Given the description of an element on the screen output the (x, y) to click on. 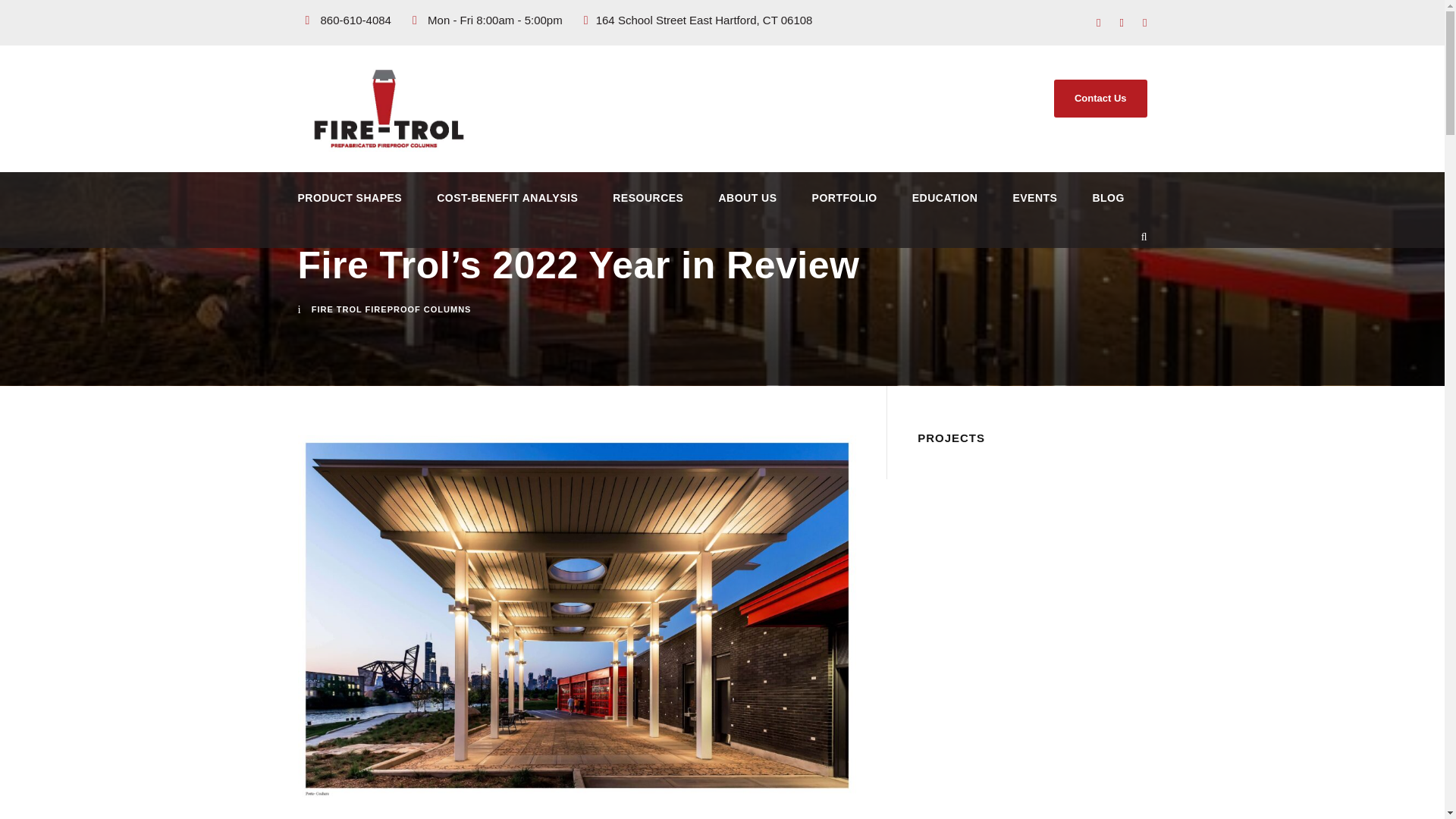
PORTFOLIO (844, 207)
FIRE TROL FIREPROOF COLUMNS (391, 308)
Posts by Fire Trol Fireproof Columns (391, 308)
Logo-fire-trol (388, 108)
RESOURCES (647, 207)
EVENTS (1034, 207)
BLOG (1108, 207)
Contact Us (1100, 98)
EDUCATION (945, 207)
ABOUT US (746, 207)
